Given the description of an element on the screen output the (x, y) to click on. 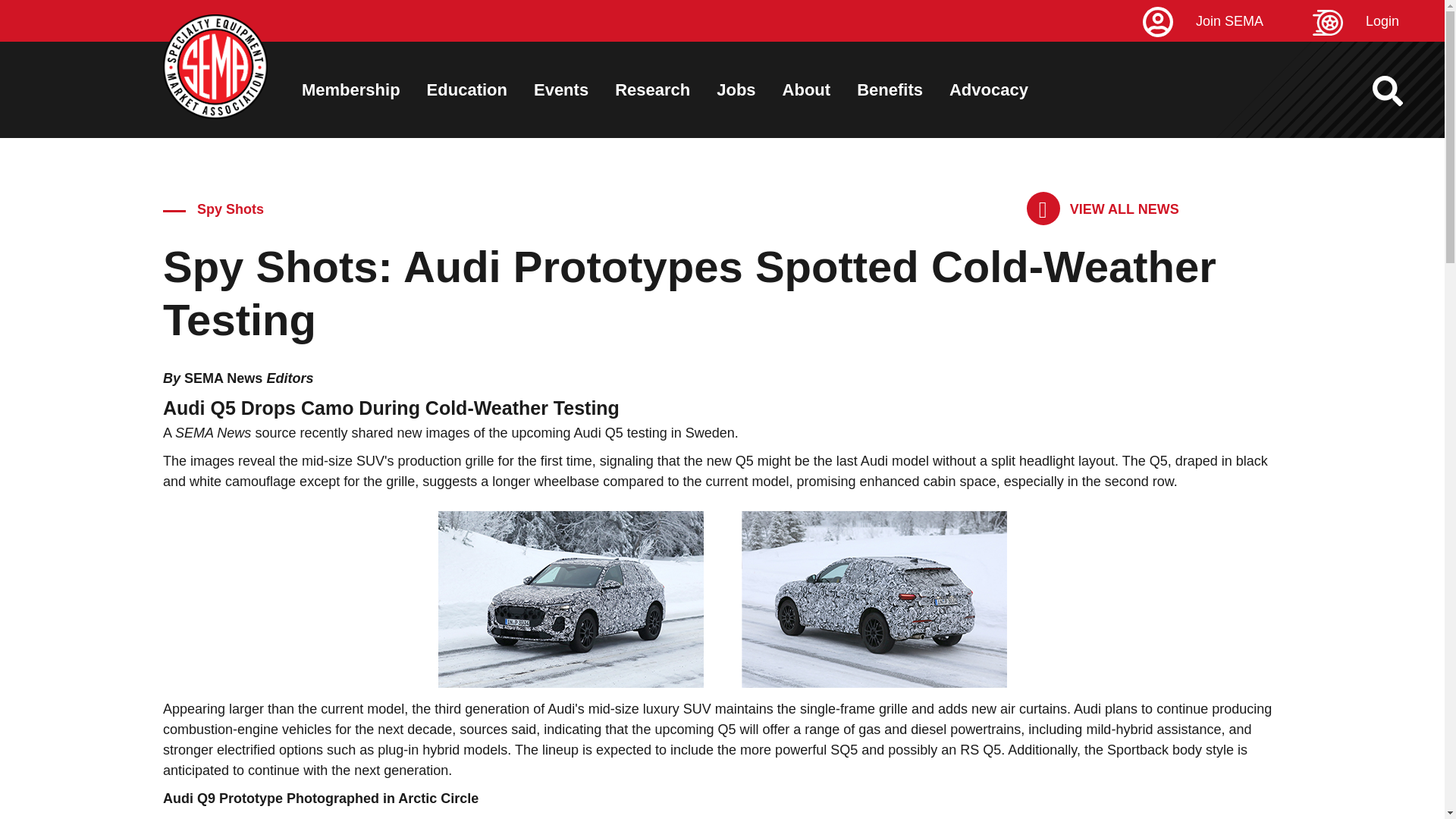
Benefits (889, 89)
Membership (350, 89)
Advocacy (988, 89)
eNews archive (1102, 209)
Login (1378, 20)
Education (466, 89)
Research (652, 89)
VIEW ALL NEWS (1102, 209)
Join SEMA (1225, 20)
Search Sema.org (1401, 91)
